Given the description of an element on the screen output the (x, y) to click on. 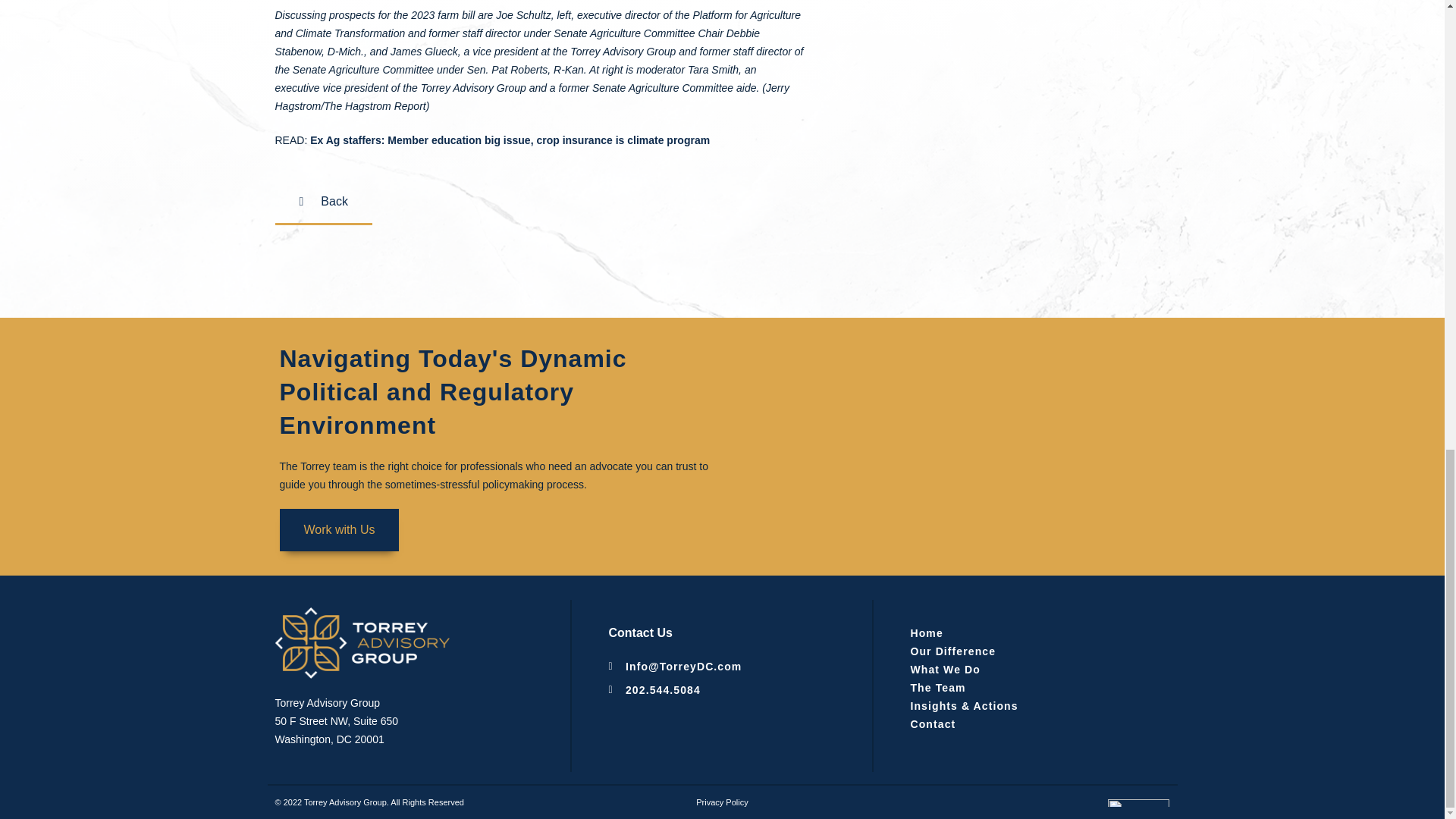
Work with Us (338, 529)
The Team (1025, 687)
Our Difference (1025, 651)
Home (1025, 633)
Back (323, 202)
Contact (1025, 723)
What We Do (1025, 669)
